Given the description of an element on the screen output the (x, y) to click on. 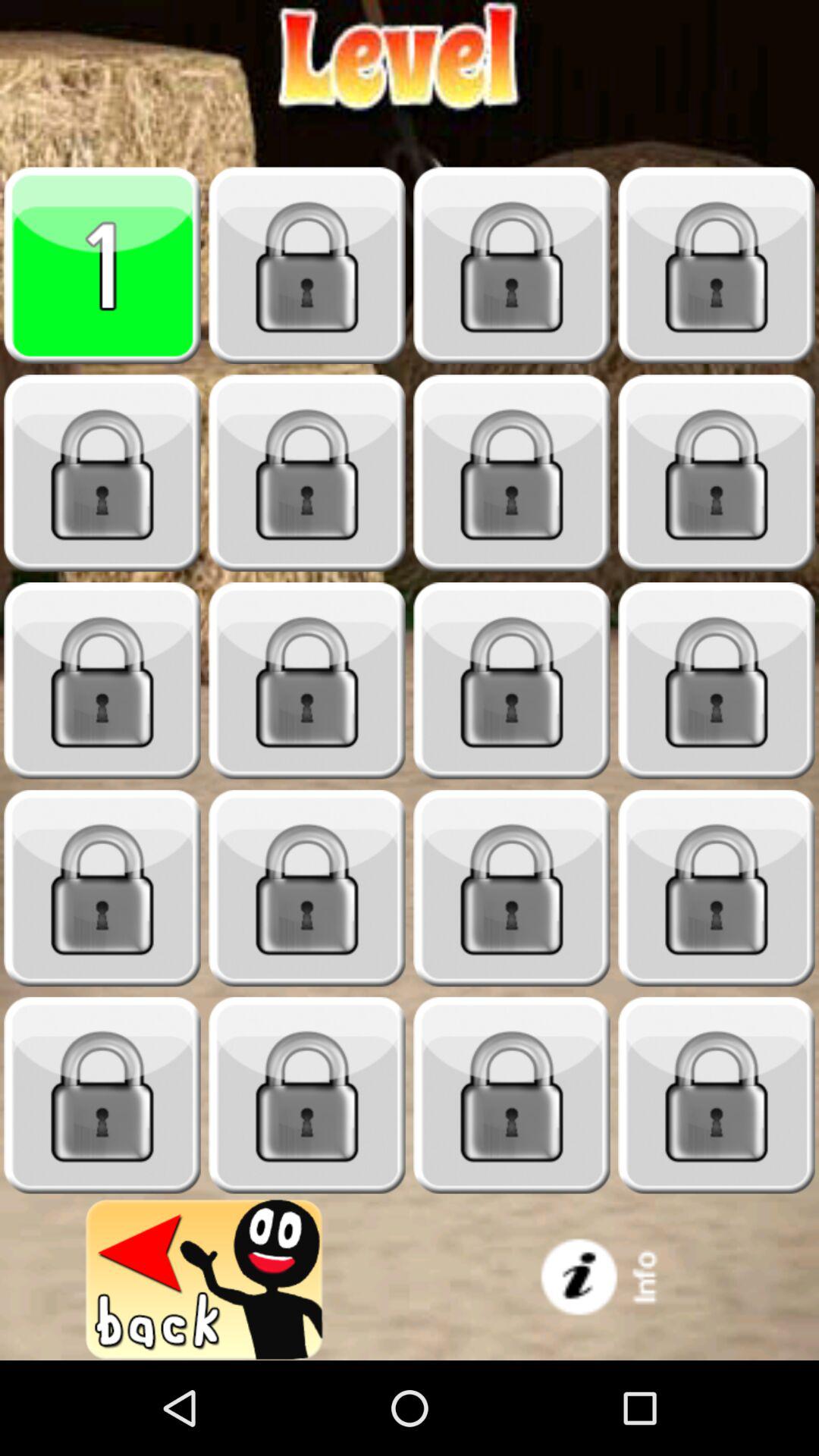
game back option (204, 1279)
